Given the description of an element on the screen output the (x, y) to click on. 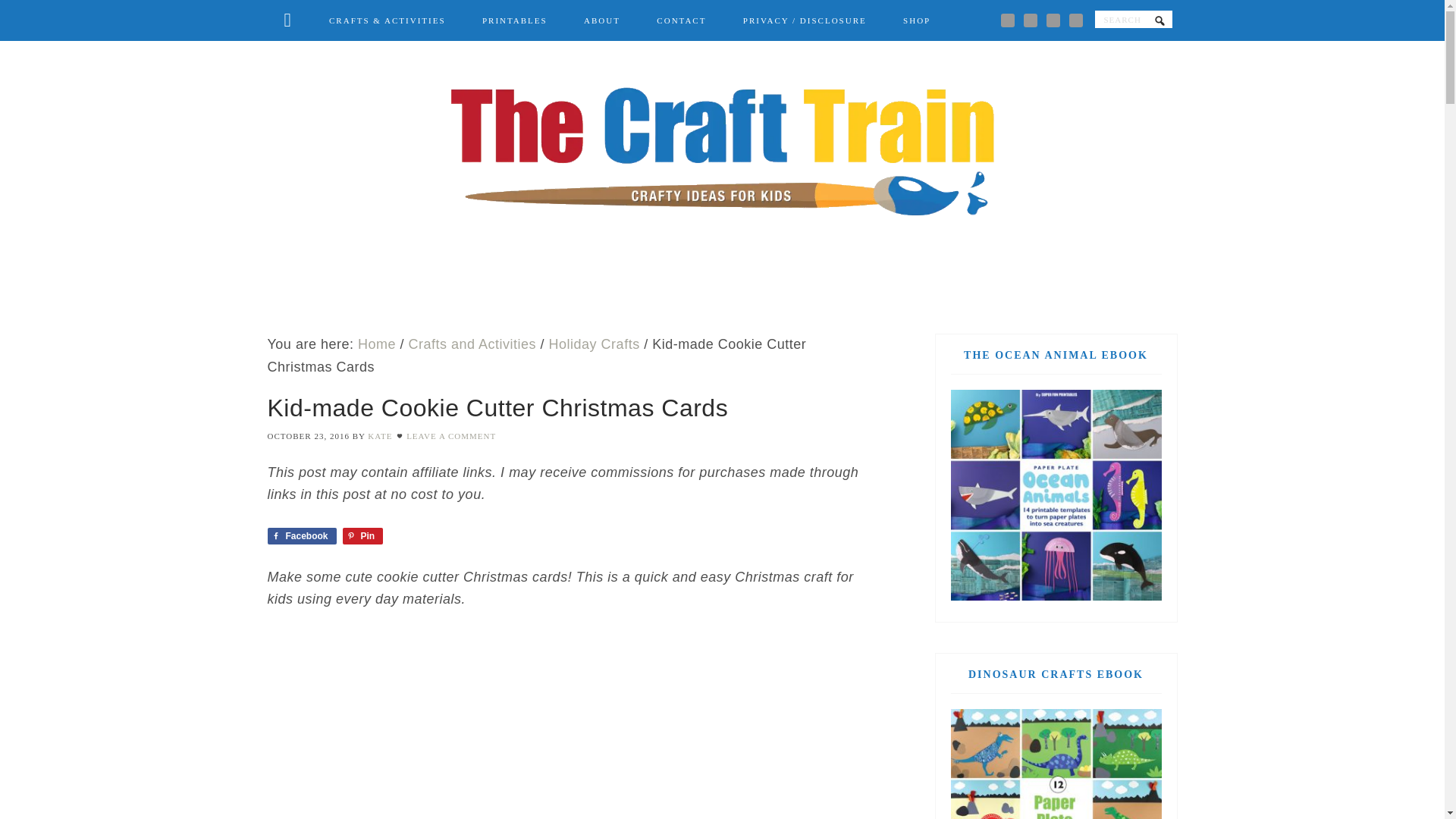
The Craft Train (721, 152)
SHOP (916, 20)
Facebook (301, 535)
ABOUT (602, 20)
Home (377, 344)
LEAVE A COMMENT (451, 435)
Holiday Crafts (594, 344)
PRINTABLES (514, 20)
Pin (363, 535)
Share on Facebook (301, 535)
